Given the description of an element on the screen output the (x, y) to click on. 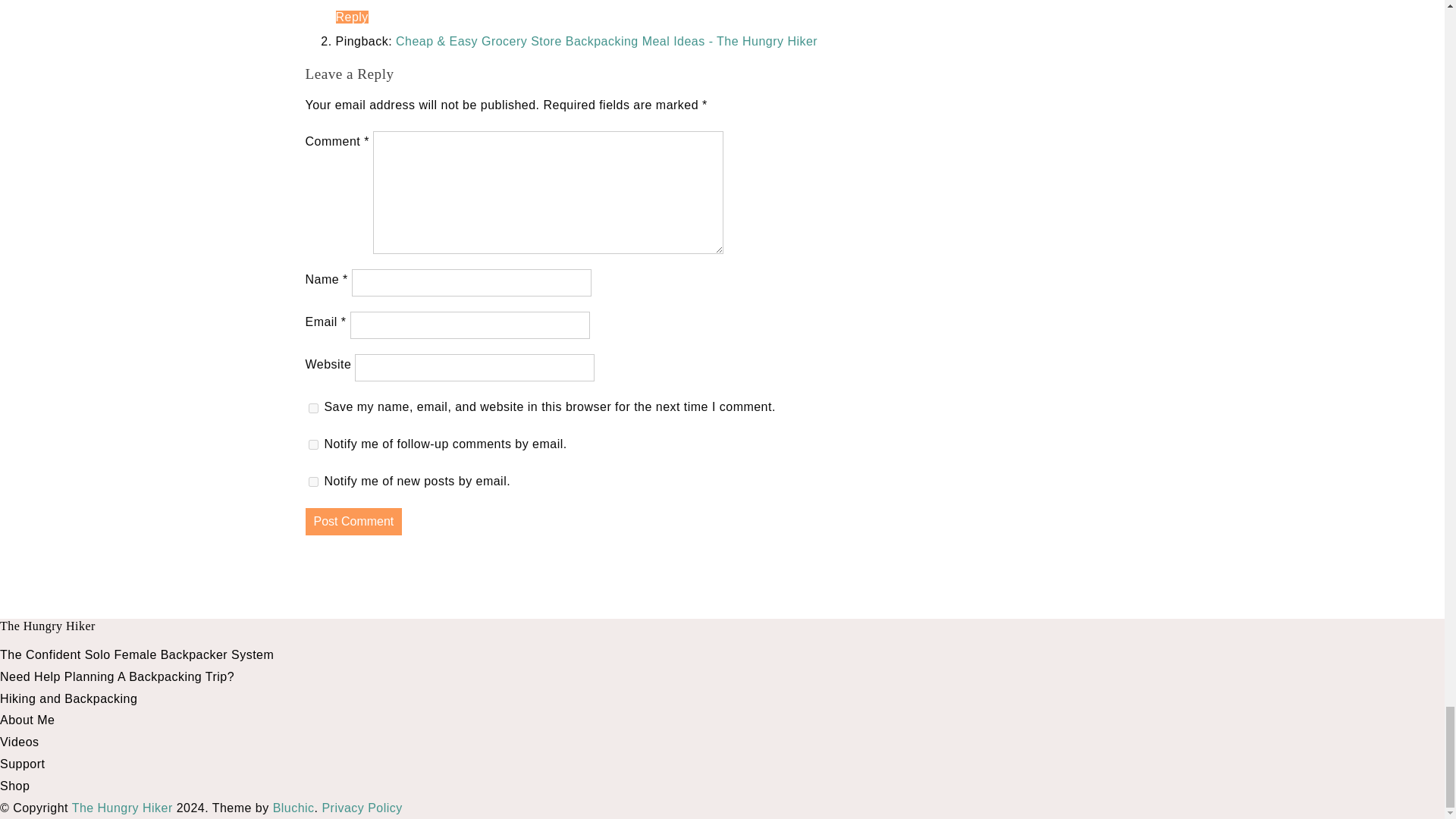
subscribe (312, 481)
yes (312, 408)
Post Comment (352, 521)
subscribe (312, 444)
